Given the description of an element on the screen output the (x, y) to click on. 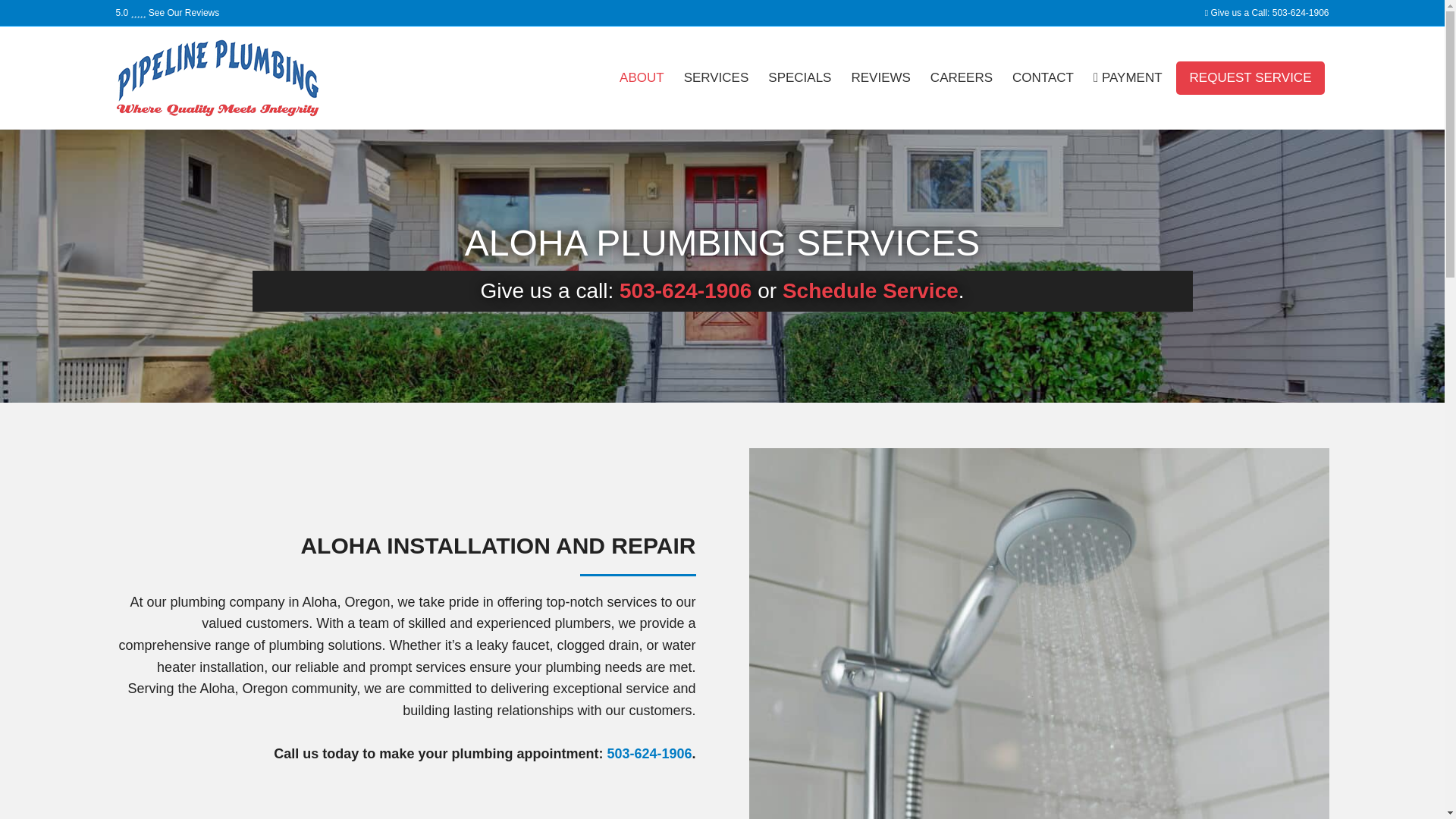
SERVICES (716, 77)
Give us a Call: 503-624-1906 (1267, 12)
5.0 See Our Reviews (167, 12)
ABOUT (642, 77)
